Given the description of an element on the screen output the (x, y) to click on. 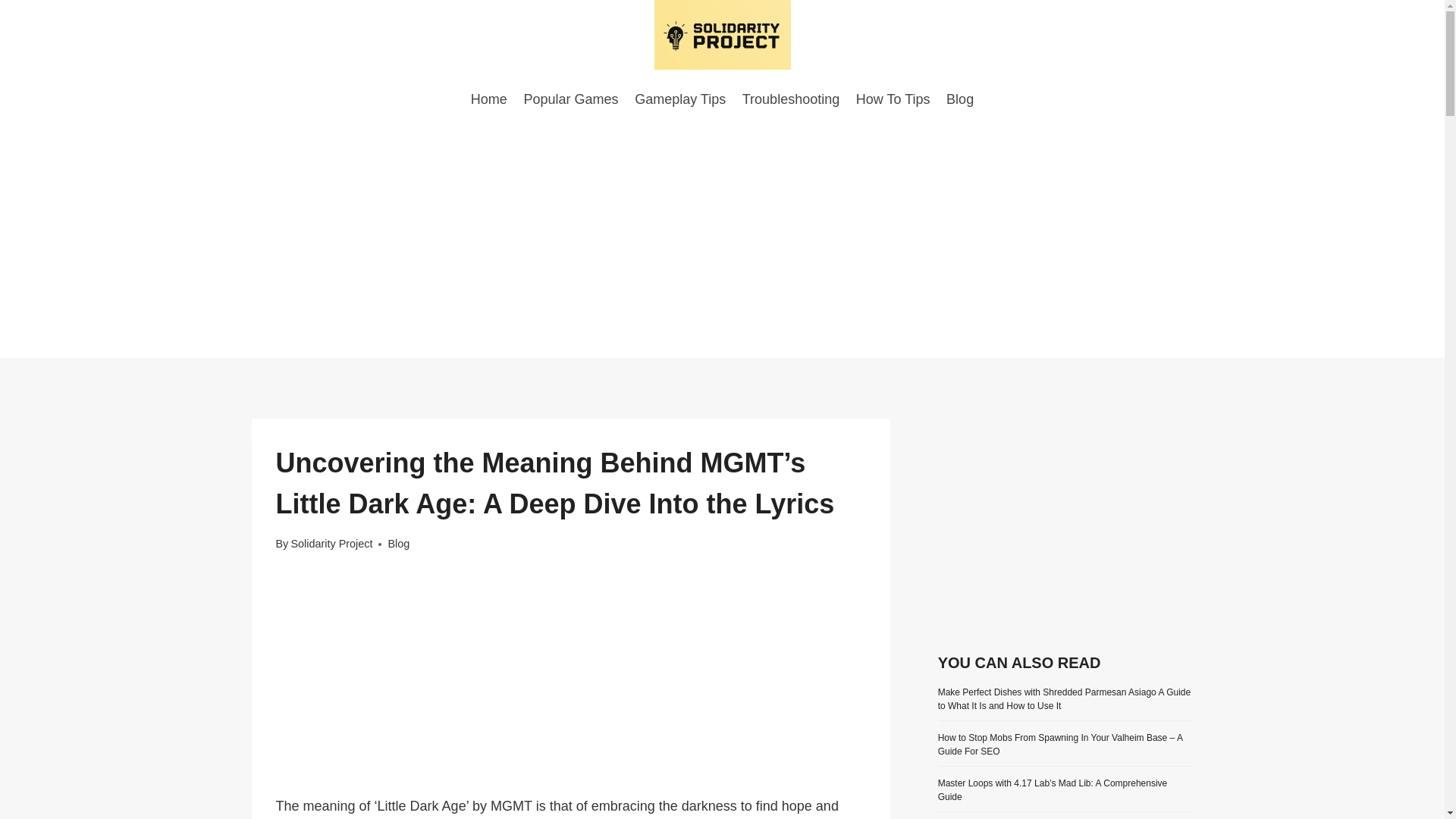
Advertisement (1065, 524)
Home (489, 98)
Blog (398, 543)
Gameplay Tips (679, 98)
Advertisement (571, 683)
Blog (959, 98)
Troubleshooting (790, 98)
Popular Games (571, 98)
